Given the description of an element on the screen output the (x, y) to click on. 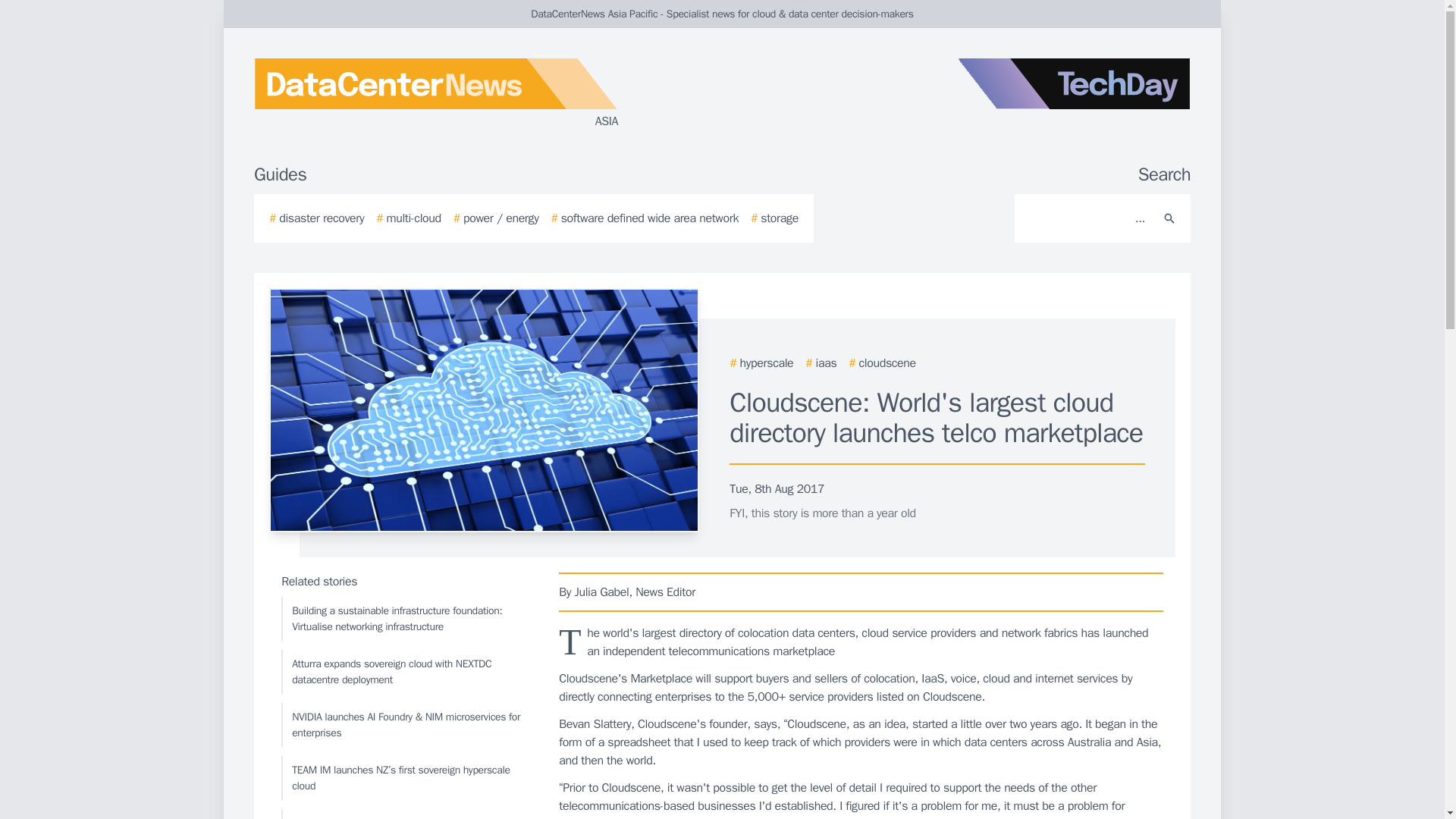
ASIA (435, 94)
By Julia Gabel, News Editor (861, 592)
